Given the description of an element on the screen output the (x, y) to click on. 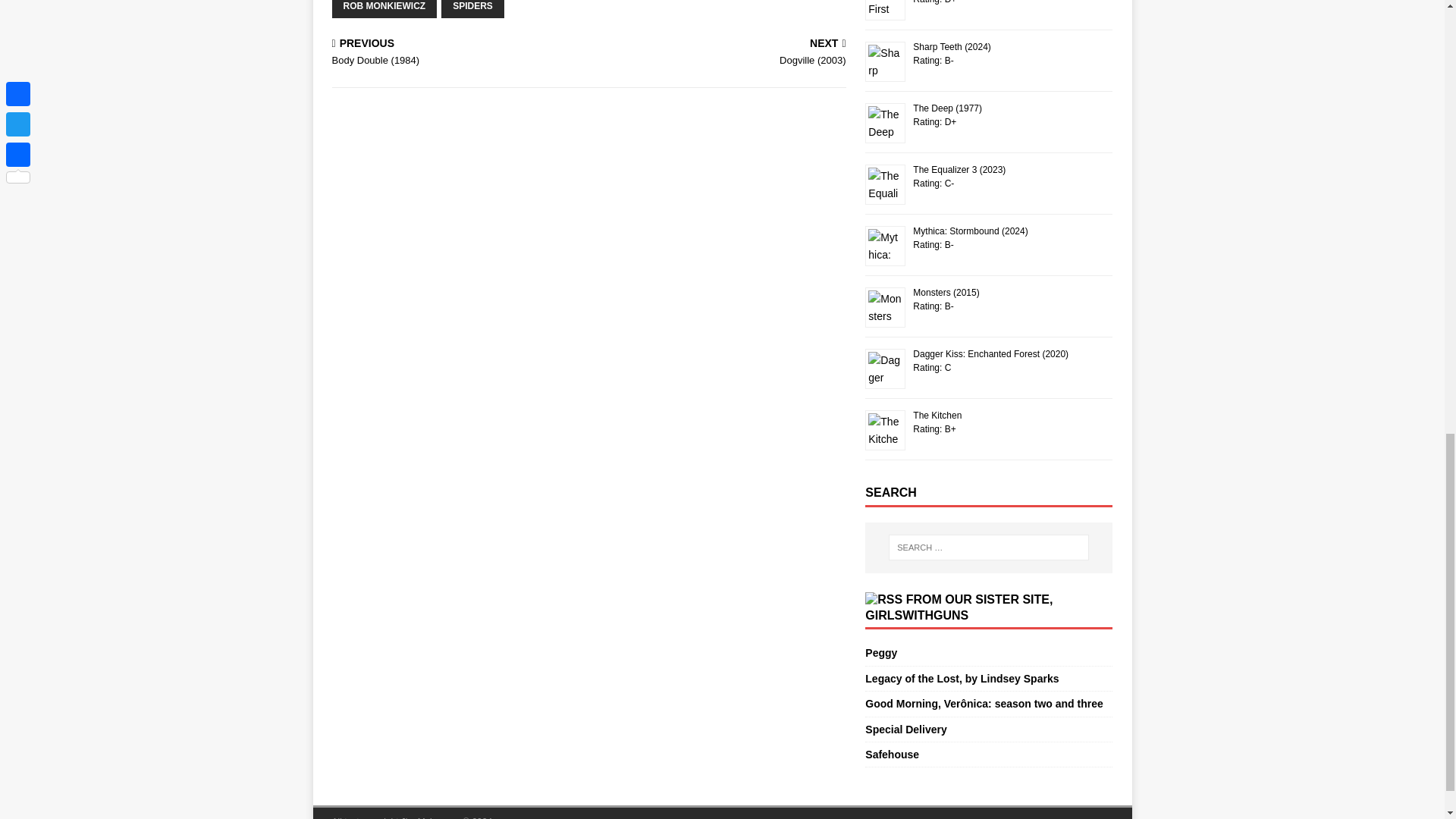
ROB MONKIEWICZ (384, 9)
SPIDERS (472, 9)
